Given the description of an element on the screen output the (x, y) to click on. 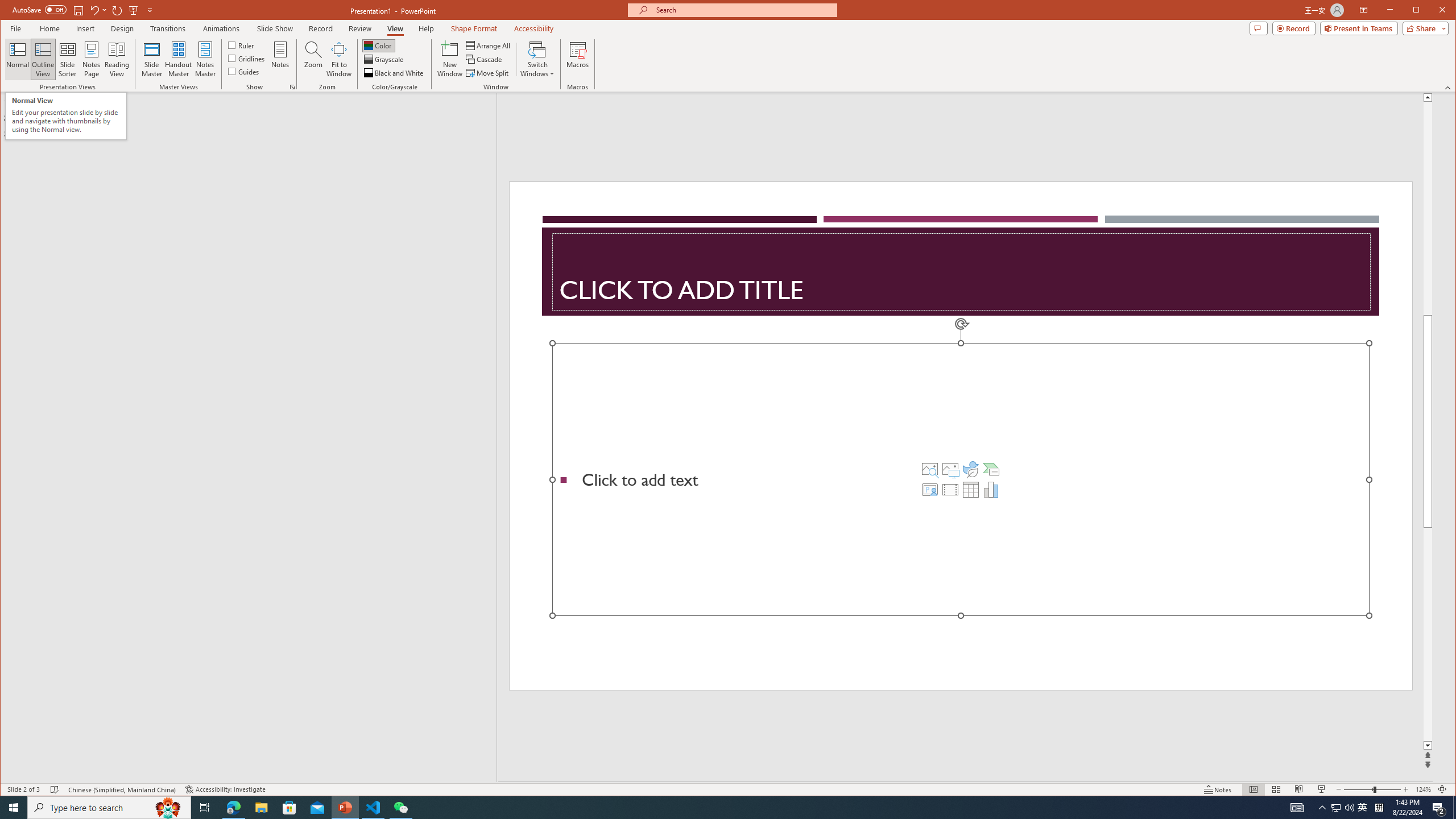
Ruler (241, 44)
Switch Windows (537, 59)
Zoom... (312, 59)
Gridlines (246, 57)
